Given the description of an element on the screen output the (x, y) to click on. 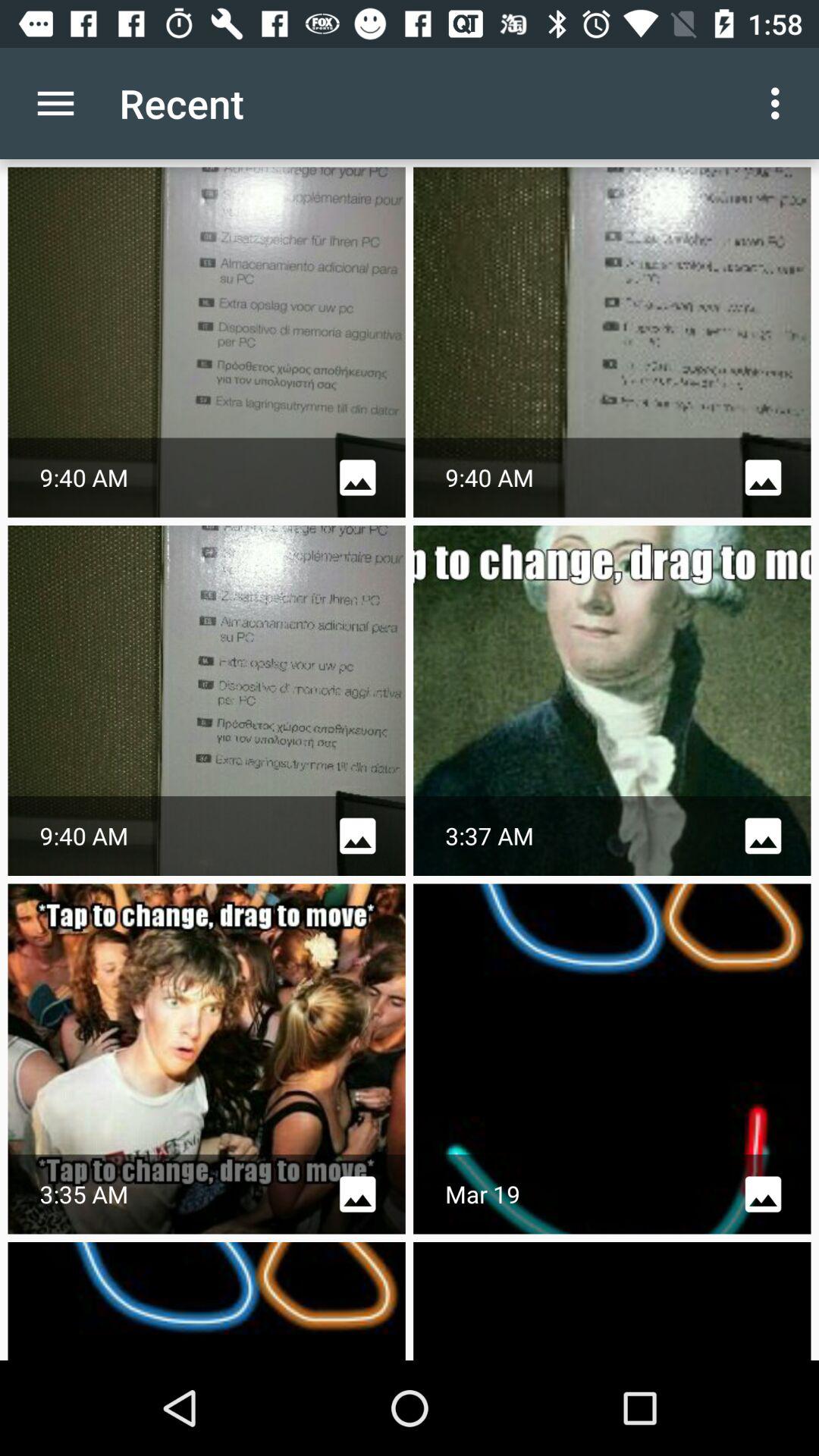
click on gallery icon which is in second row first image (357, 836)
